Given the description of an element on the screen output the (x, y) to click on. 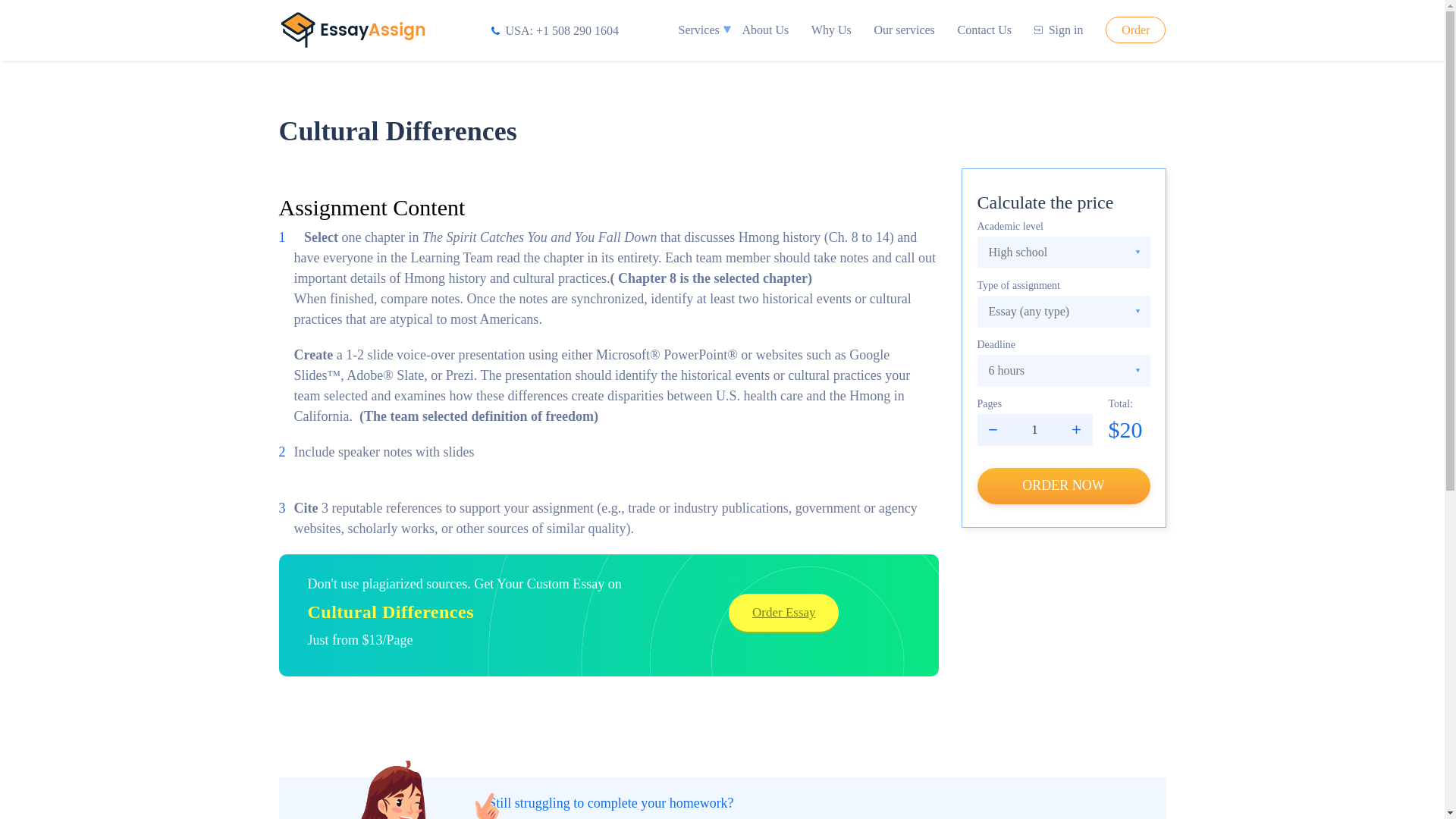
About Us (765, 29)
Order (1135, 29)
Contact Us (983, 29)
Why Us (830, 29)
ORDER NOW (1063, 485)
Sign in (1058, 29)
1 (1034, 429)
Order Essay (783, 612)
Our services (903, 29)
